Given the description of an element on the screen output the (x, y) to click on. 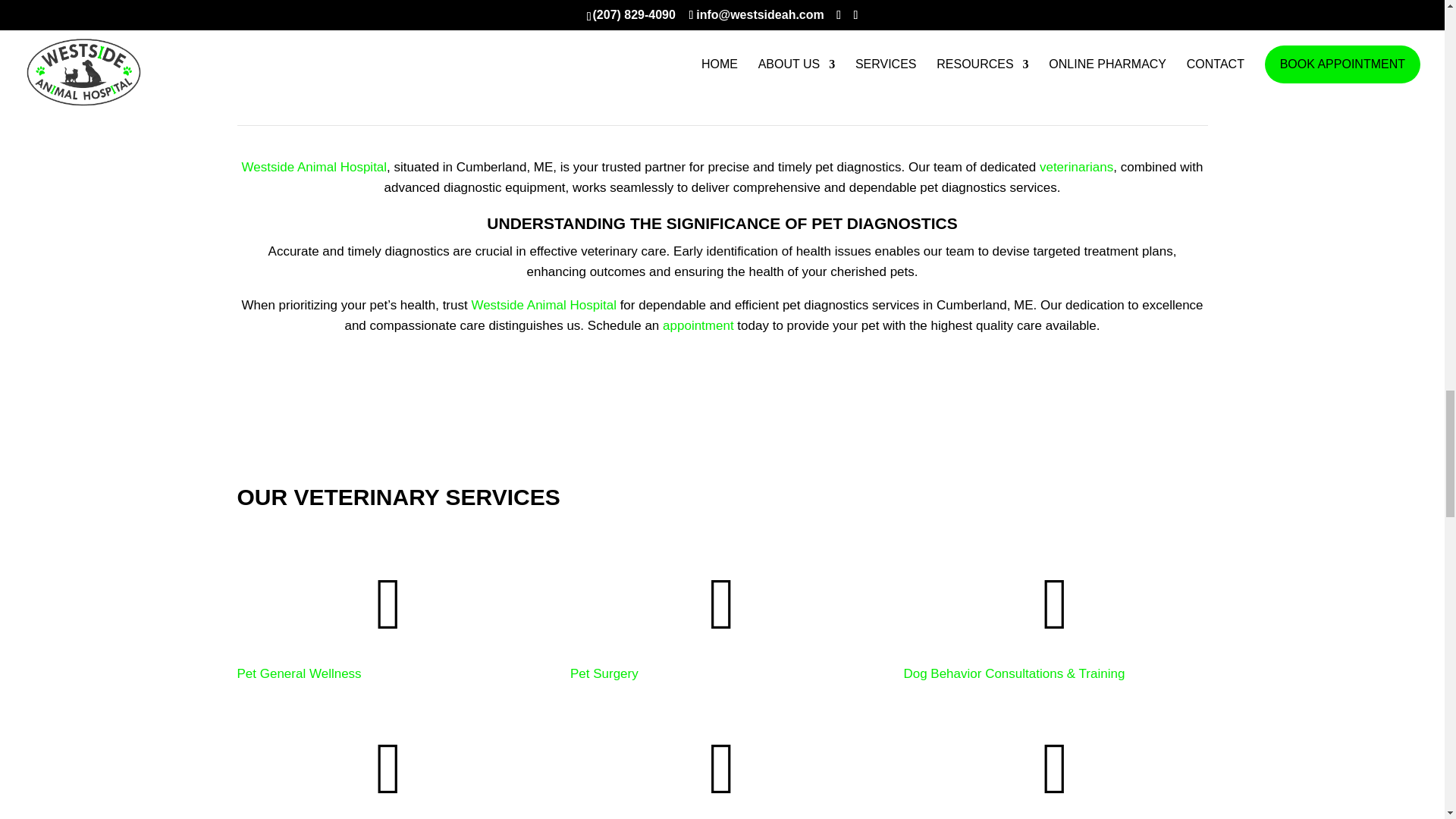
veterinarians (1076, 166)
Pet Surgery (604, 673)
Pet General Wellness (298, 673)
Westside Animal Hospital (314, 166)
appointment (697, 325)
Westside Animal Hospital (542, 305)
